Given the description of an element on the screen output the (x, y) to click on. 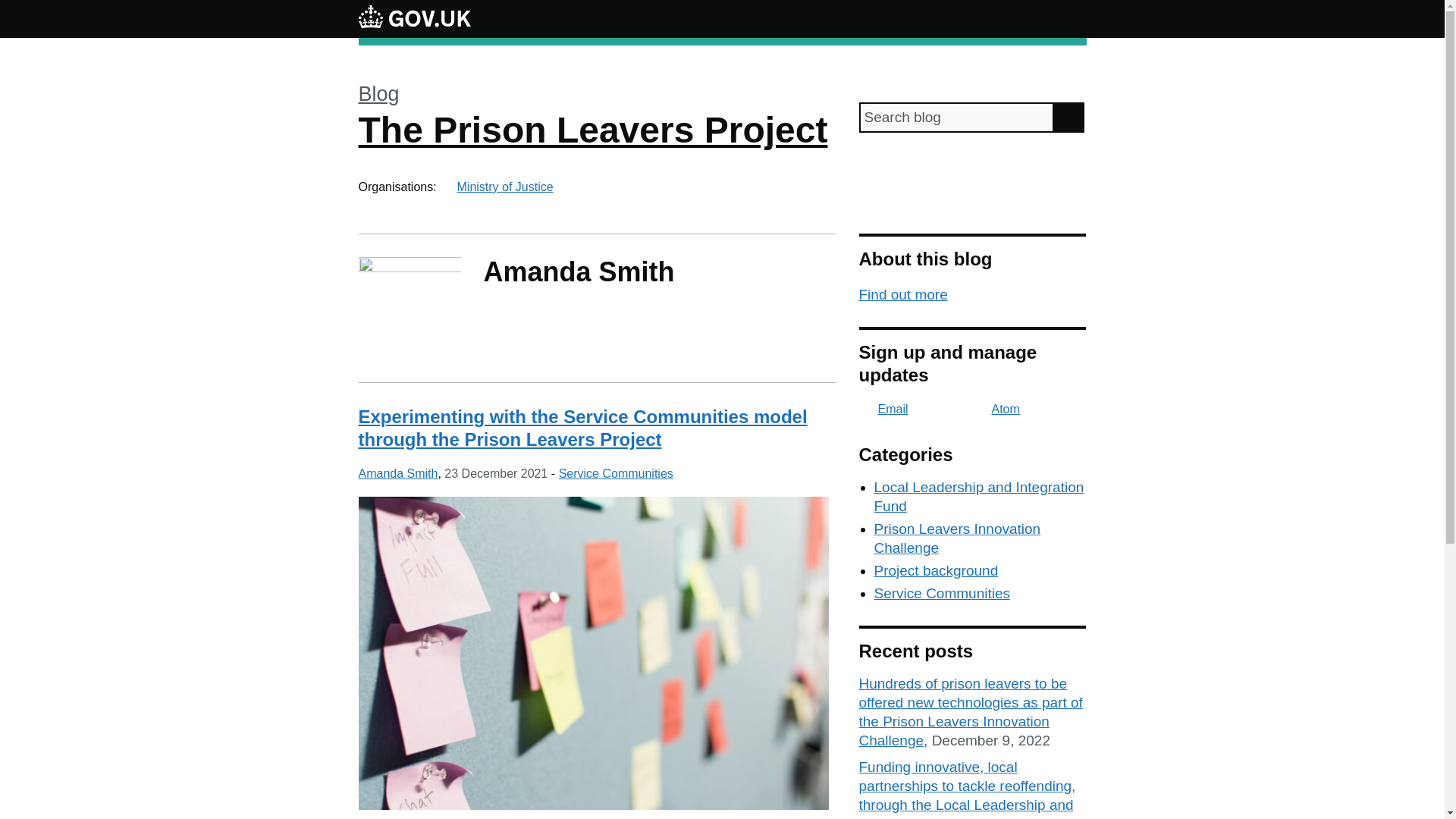
The Prison Leavers Project (592, 129)
Skip to main content (11, 7)
Go to the GOV.UK homepage (414, 18)
Search (1069, 117)
GOV.UK (414, 15)
Email (883, 408)
Posts by Amanda Smith (398, 472)
Find out more (903, 294)
Prison Leavers Innovation Challenge (957, 538)
Amanda Smith (398, 472)
Atom (995, 408)
Project background (935, 570)
Local Leadership and Integration Fund (978, 496)
